Given the description of an element on the screen output the (x, y) to click on. 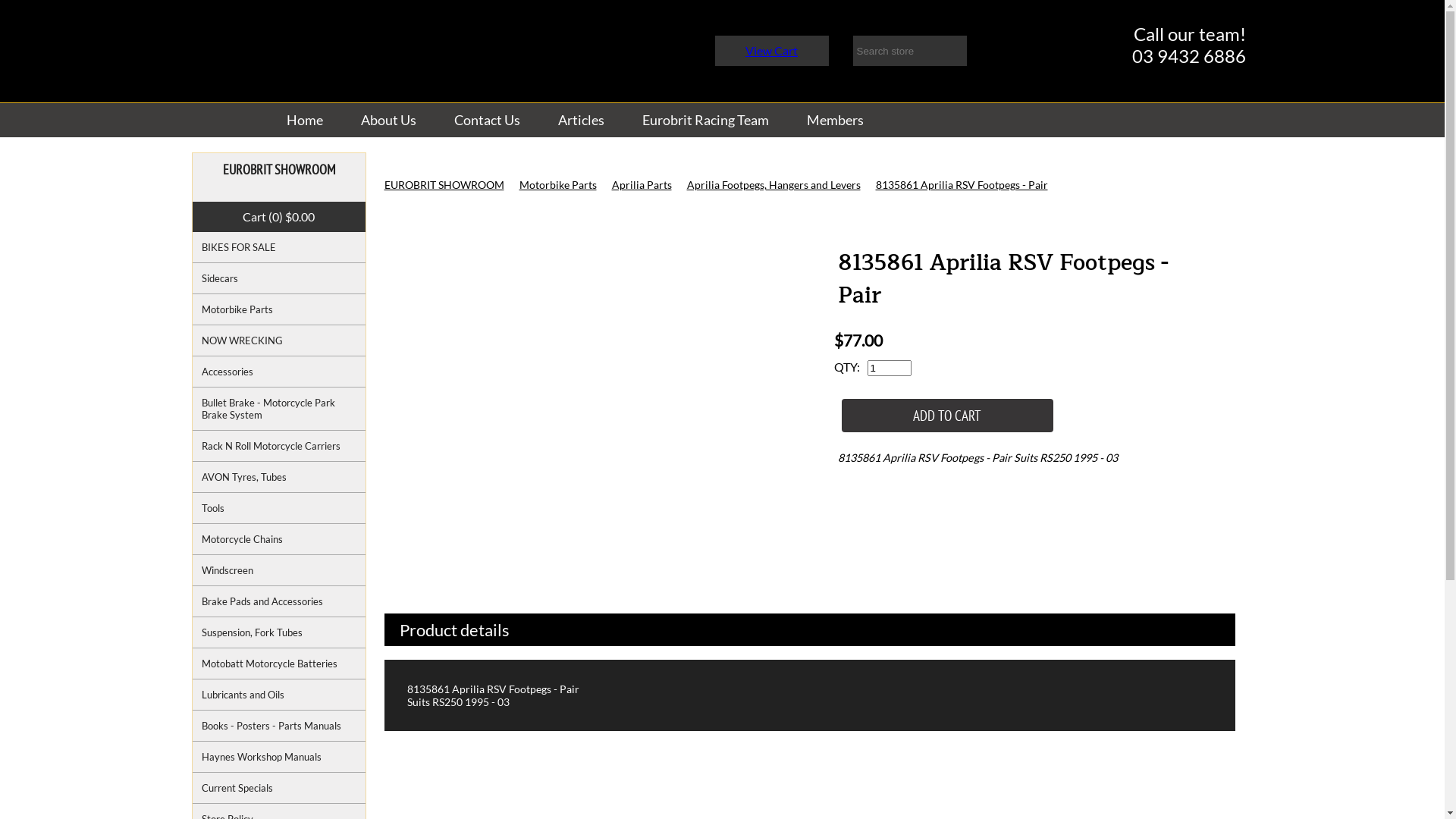
Members Element type: text (834, 120)
Brake Pads and Accessories Element type: text (278, 601)
Motorbike Parts Element type: text (557, 184)
Motobatt Motorcycle Batteries Element type: text (278, 663)
Eurobrit Racing Team Element type: text (705, 120)
Suspension, Fork Tubes Element type: text (278, 632)
Articles Element type: text (580, 120)
AVON Tyres, Tubes Element type: text (278, 476)
Windscreen Element type: text (278, 570)
EUROBRIT SHOWROOM Element type: text (443, 184)
Rack N Roll Motorcycle Carriers Element type: text (278, 445)
Contact Us Element type: text (487, 120)
Books - Posters - Parts Manuals Element type: text (278, 725)
View Cart Element type: text (771, 50)
Current Specials Element type: text (278, 787)
03 9432 6886 Element type: text (1188, 55)
Accessories Element type: text (278, 371)
Cart (0) $0.00 Element type: text (278, 216)
Motorcycle Chains Element type: text (278, 539)
Haynes Workshop Manuals Element type: text (278, 756)
About Us Element type: text (387, 120)
ADD TO CART Element type: text (947, 415)
Lubricants and Oils Element type: text (278, 694)
Bullet Brake - Motorcycle Park Brake System Element type: text (278, 408)
8135861 Aprilia RSV Footpegs - Pair Element type: hover (594, 381)
Sidecars Element type: text (278, 278)
Tools Element type: text (278, 508)
Motorbike Parts Element type: text (278, 309)
Aprilia Footpegs, Hangers and Levers Element type: text (773, 184)
BIKES FOR SALE Element type: text (278, 247)
Aprilia Parts Element type: text (641, 184)
8135861 Aprilia RSV Footpegs - Pair Element type: text (961, 184)
Home Element type: text (303, 120)
NOW WRECKING Element type: text (278, 340)
